Given the description of an element on the screen output the (x, y) to click on. 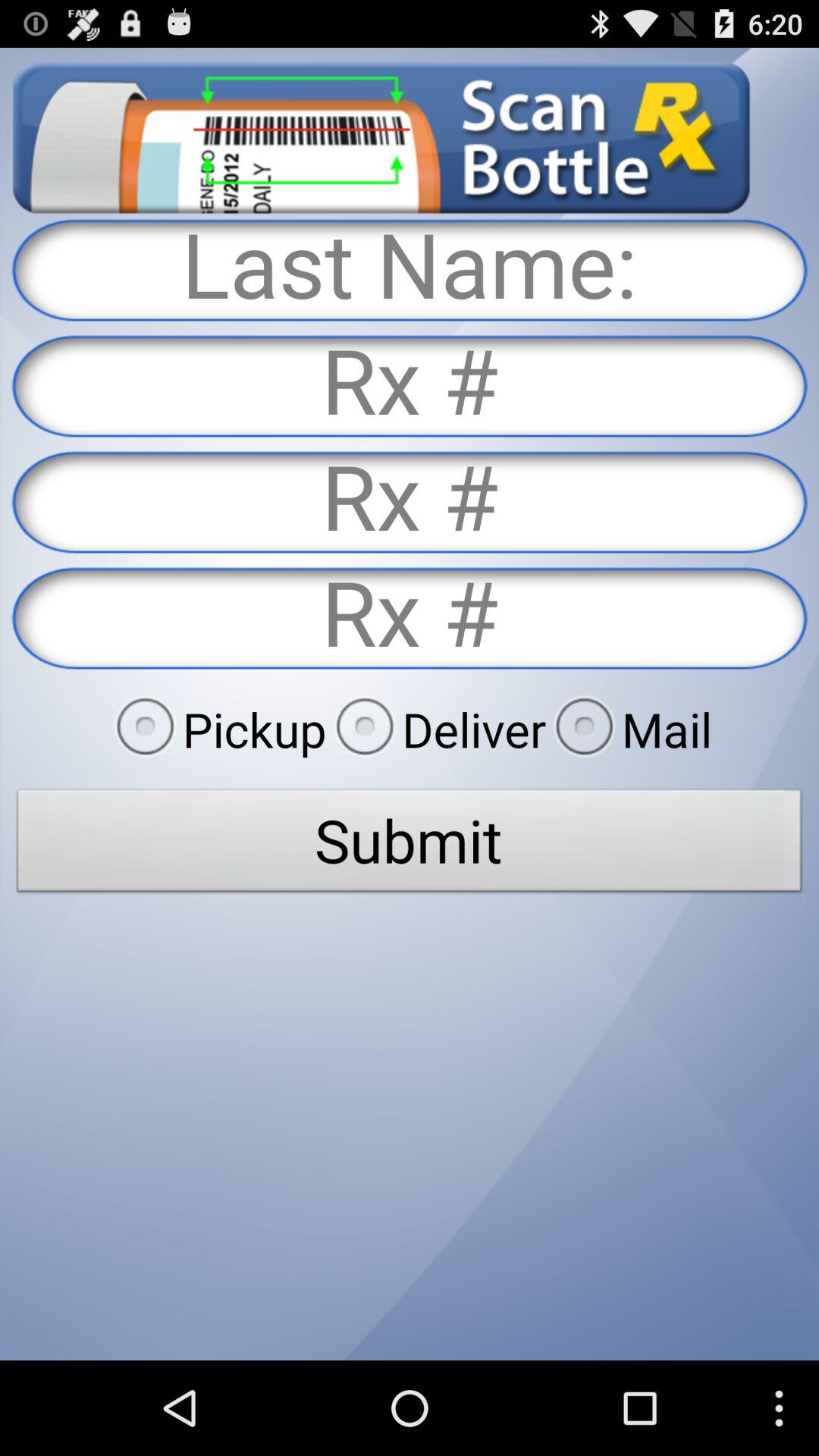
turn on deliver radio button (436, 728)
